Given the description of an element on the screen output the (x, y) to click on. 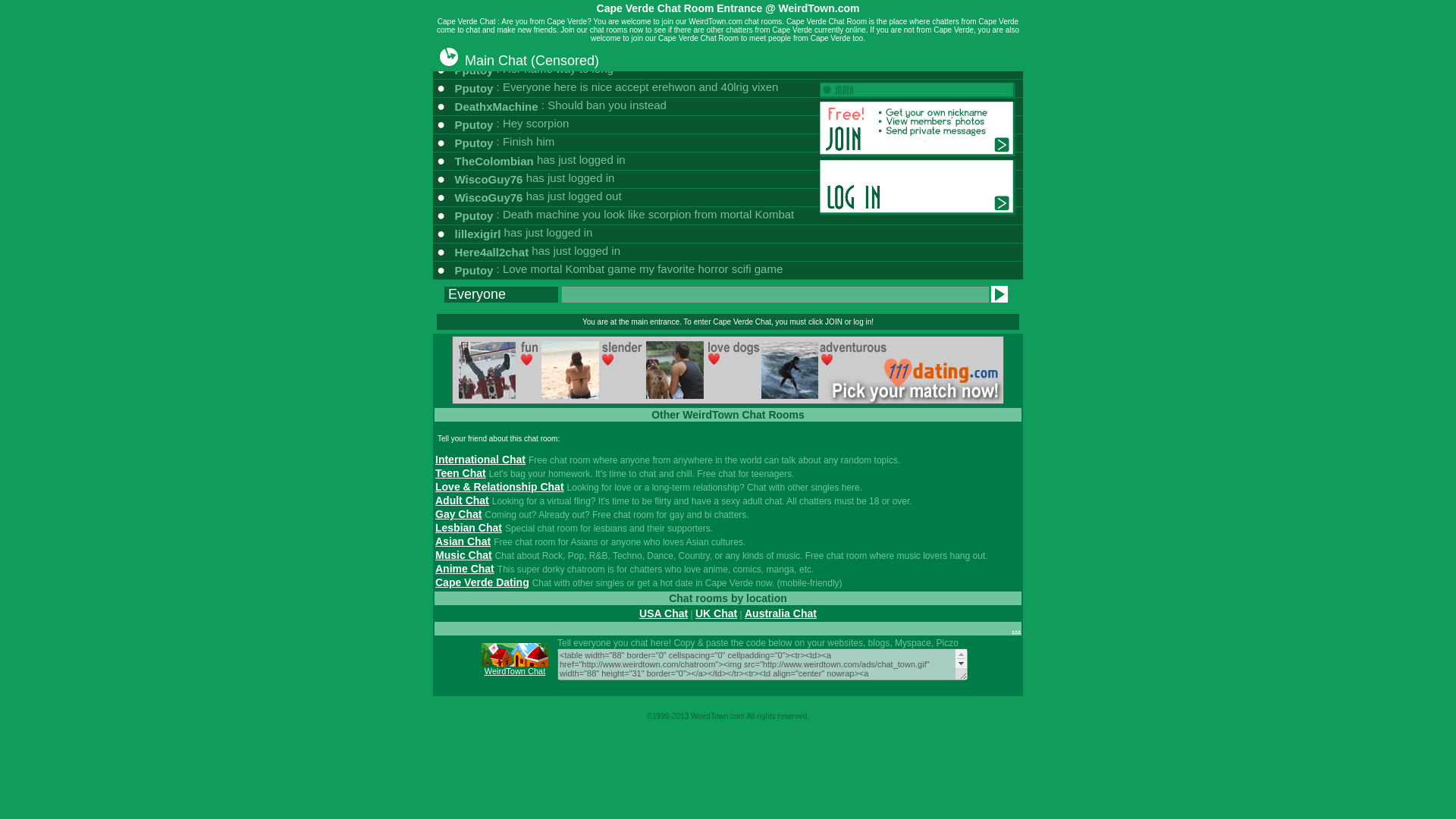
Asian Chat (462, 541)
W (693, 715)
Gay Chat (458, 513)
h (767, 715)
WeirdTown Chat (515, 669)
Adult Chat (462, 500)
1 (681, 715)
Teen Chat (460, 472)
